Given the description of an element on the screen output the (x, y) to click on. 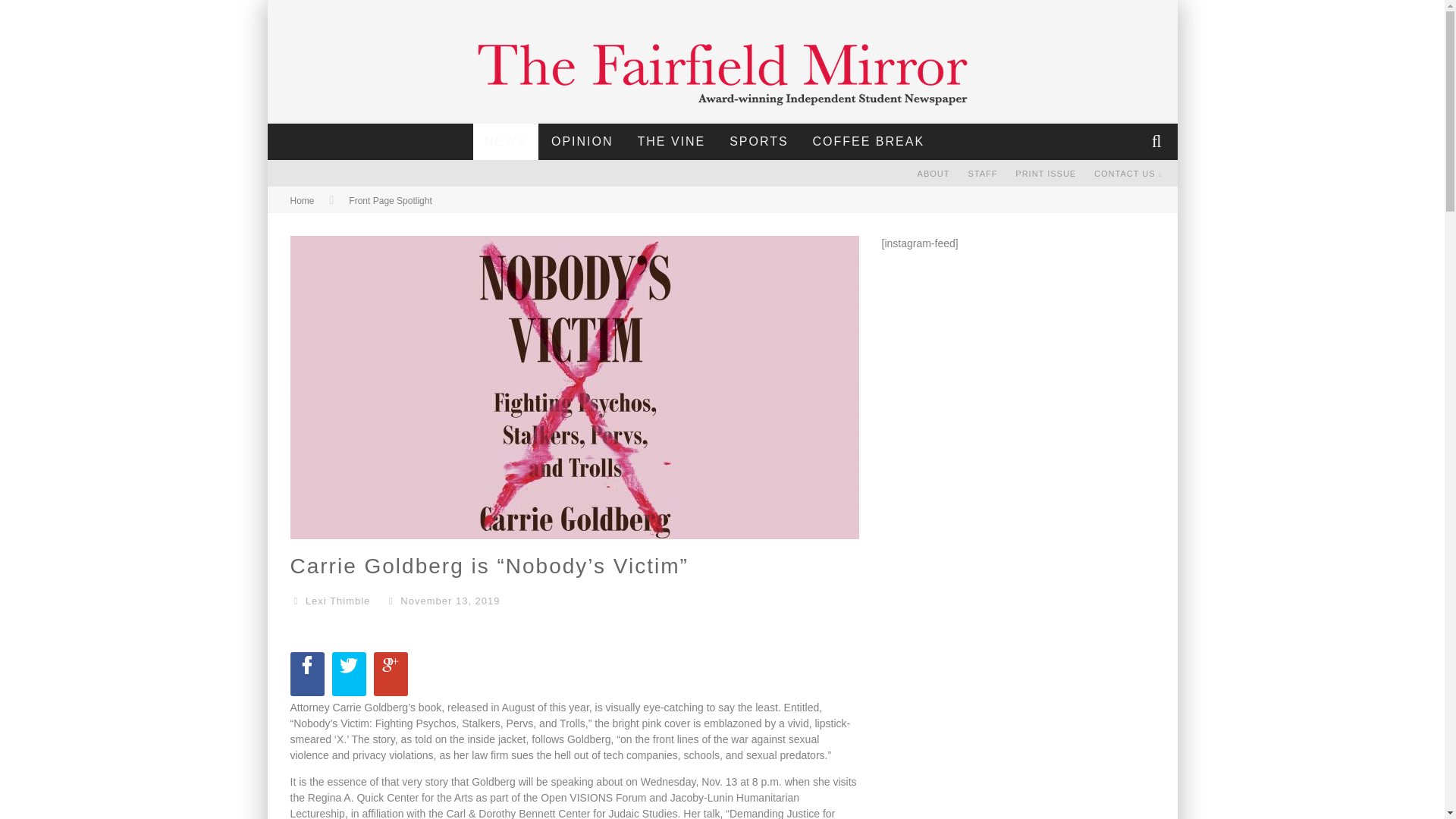
NEWS (505, 141)
View all posts in Front Page Spotlight (389, 200)
OPINION (582, 141)
Search (1158, 141)
